Given the description of an element on the screen output the (x, y) to click on. 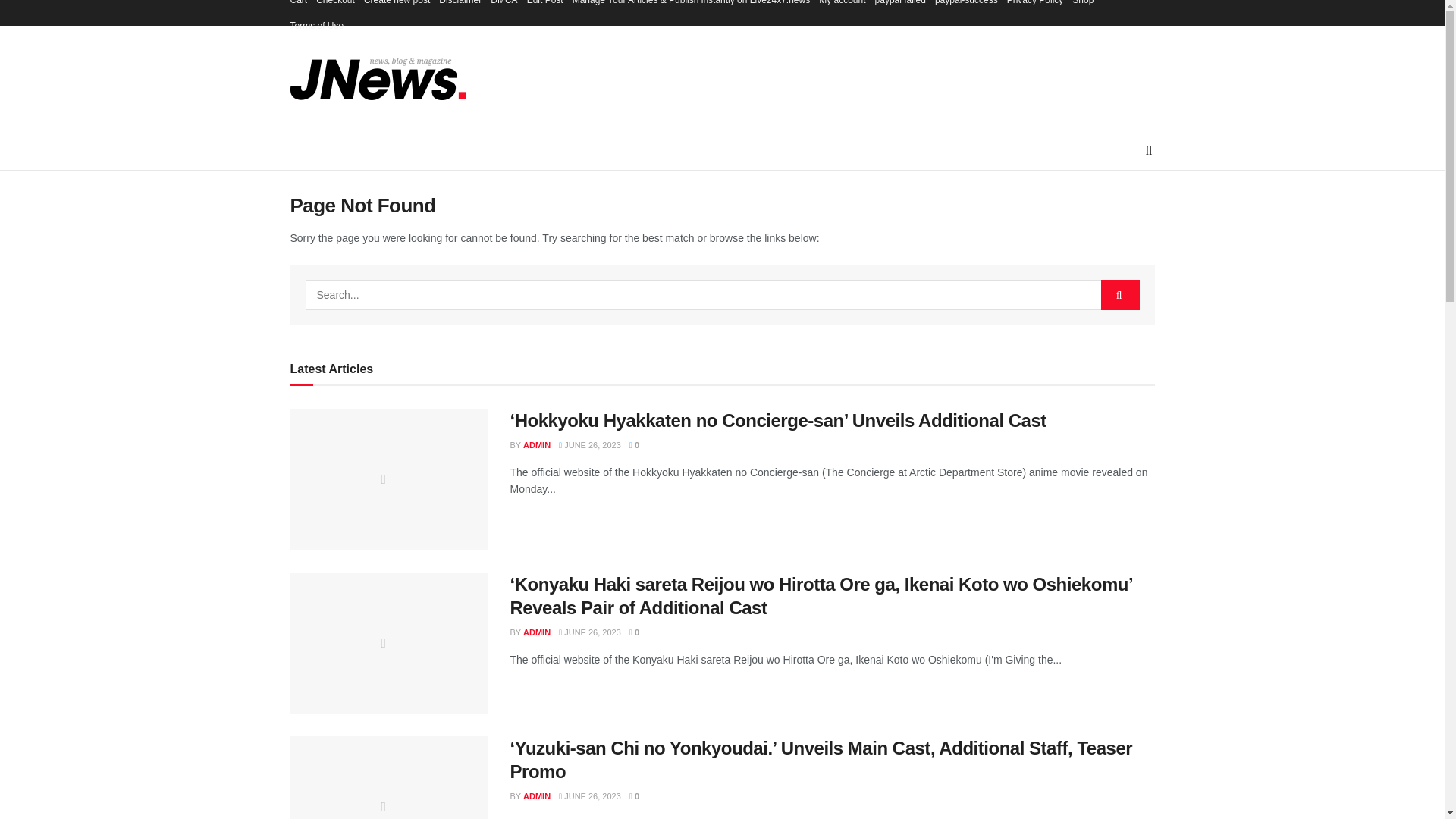
Privacy Policy (1035, 6)
My account (841, 6)
Cart (298, 6)
Checkout (335, 6)
Shop (1082, 6)
paypal-success (965, 6)
Disclaimer (460, 6)
DMCA (503, 6)
Terms of Use (316, 25)
Create new post (396, 6)
Edit Post (545, 6)
paypal failed (900, 6)
